Given the description of an element on the screen output the (x, y) to click on. 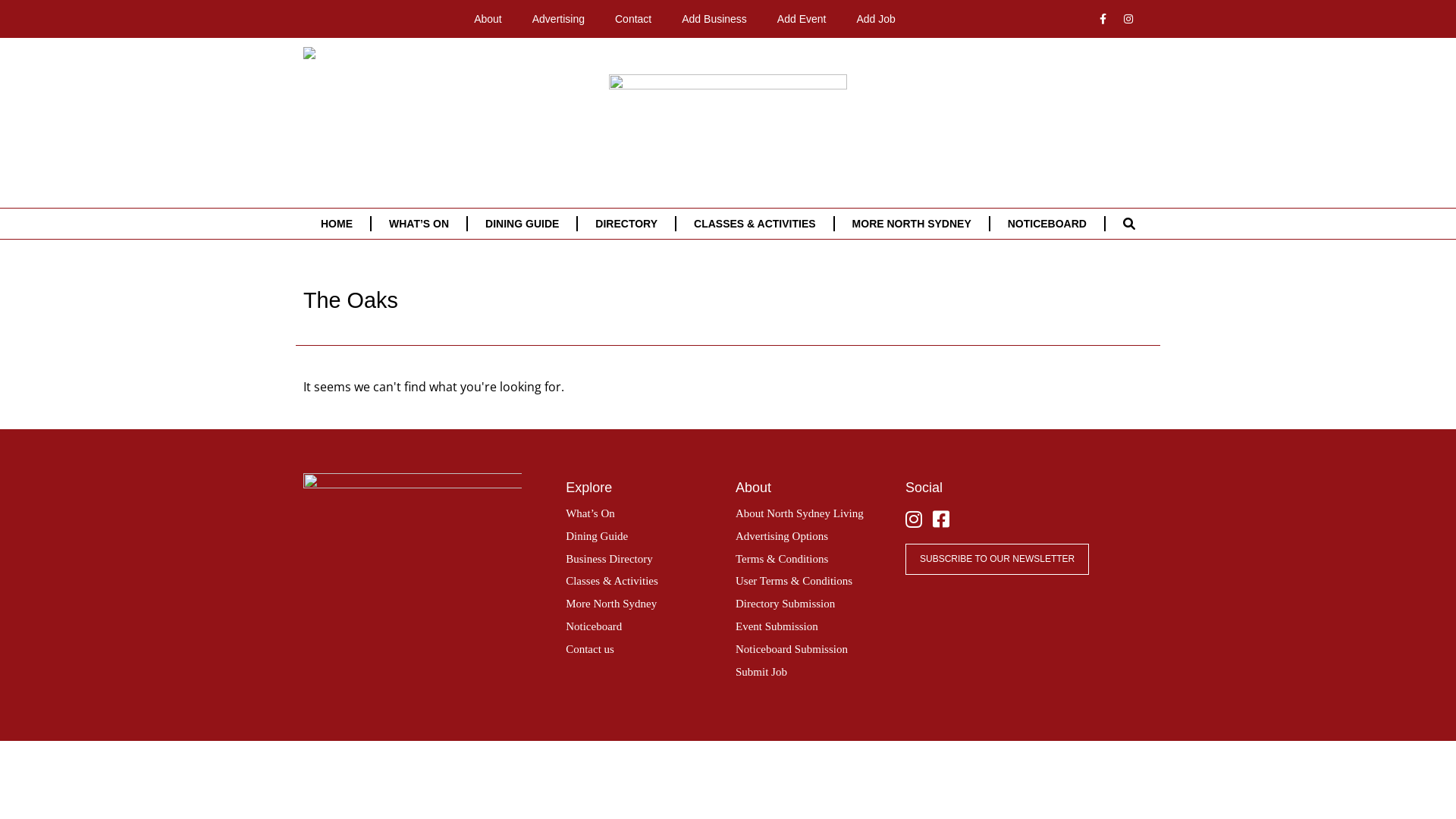
Contact us Element type: text (589, 649)
Noticeboard Element type: text (593, 626)
More North Sydney Element type: text (610, 603)
User Terms & Conditions Element type: text (793, 580)
Classes & Activities Element type: text (611, 580)
SUBSCRIBE TO OUR NEWSLETTER Element type: text (996, 558)
Submit Job Element type: text (761, 671)
Add Business Element type: text (714, 18)
MORE NORTH SYDNEY Element type: text (911, 223)
Terms & Conditions Element type: text (781, 558)
Directory Submission Element type: text (784, 603)
Business Directory Element type: text (608, 558)
Contact Element type: text (632, 18)
Dining Guide Element type: text (596, 536)
About Element type: text (487, 18)
CLASSES & ACTIVITIES Element type: text (754, 223)
DIRECTORY Element type: text (625, 223)
About North Sydney Living Element type: text (799, 513)
NOTICEBOARD Element type: text (1047, 223)
Add Event Element type: text (801, 18)
Advertising Options Element type: text (781, 536)
Event Submission Element type: text (776, 626)
Noticeboard Submission Element type: text (791, 649)
HOME Element type: text (336, 223)
DINING GUIDE Element type: text (521, 223)
Advertising Element type: text (558, 18)
Add Job Element type: text (875, 18)
